Given the description of an element on the screen output the (x, y) to click on. 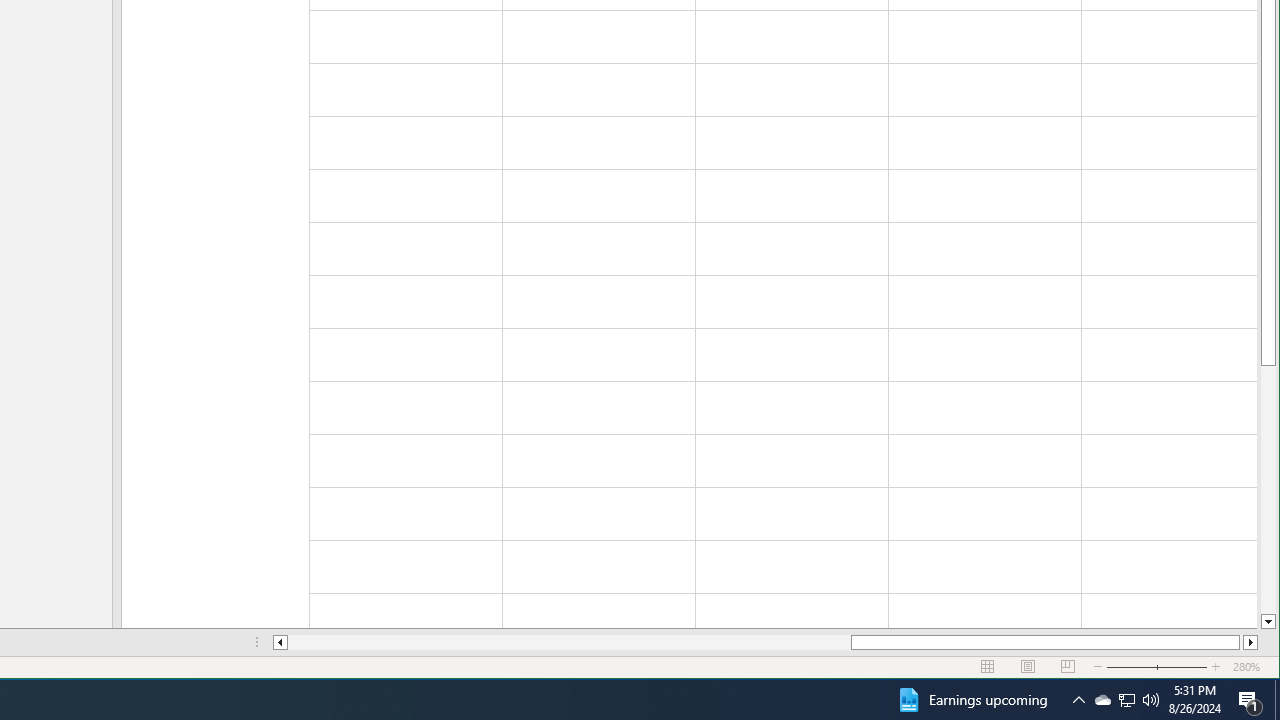
Page left (569, 642)
